Given the description of an element on the screen output the (x, y) to click on. 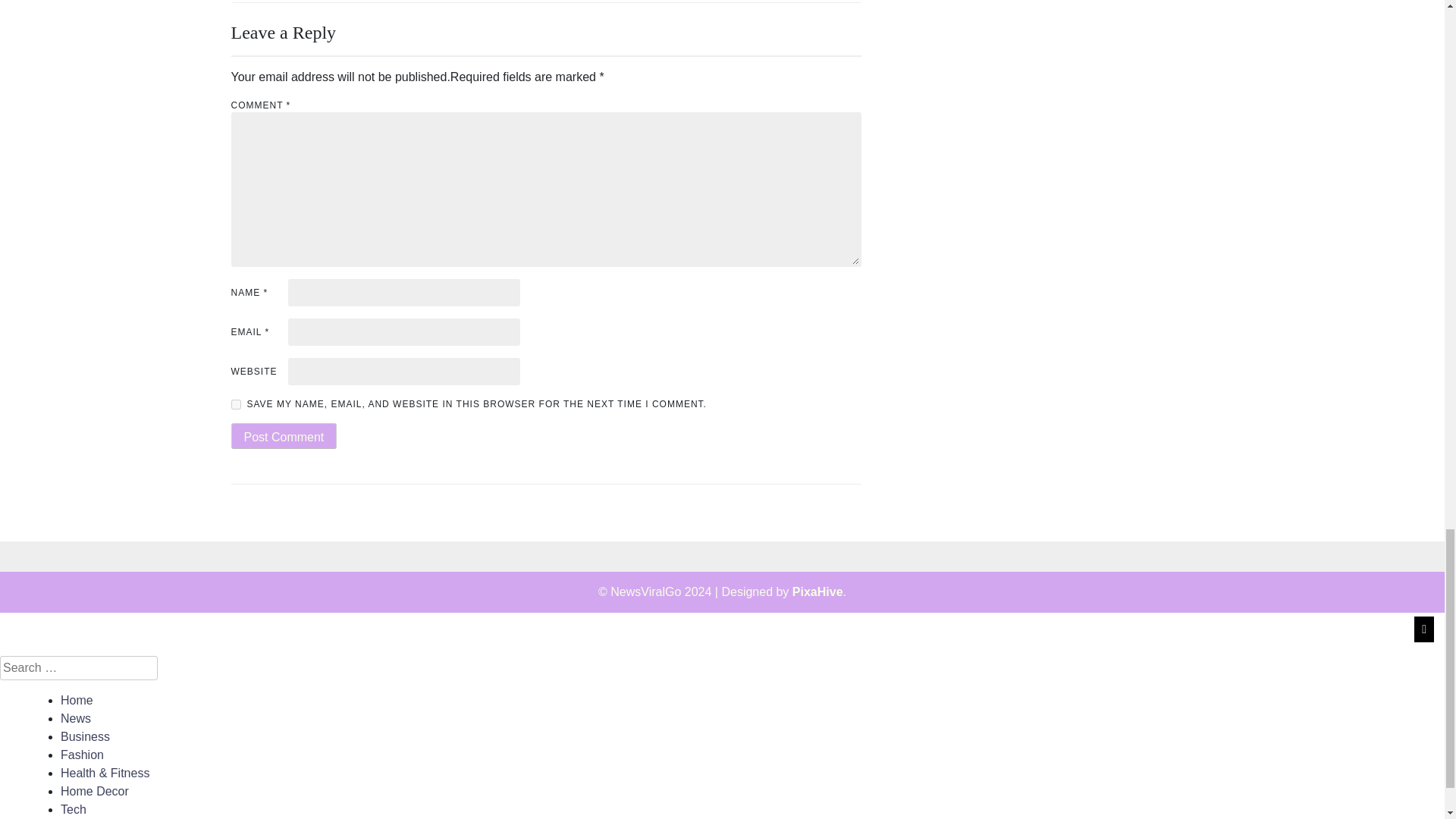
yes (235, 404)
Post Comment (283, 435)
Fashion (82, 754)
Business (85, 736)
Post Comment (283, 435)
News (75, 717)
Home Decor (95, 790)
PixaHive (817, 591)
Home (77, 699)
Tech (73, 809)
